Given the description of an element on the screen output the (x, y) to click on. 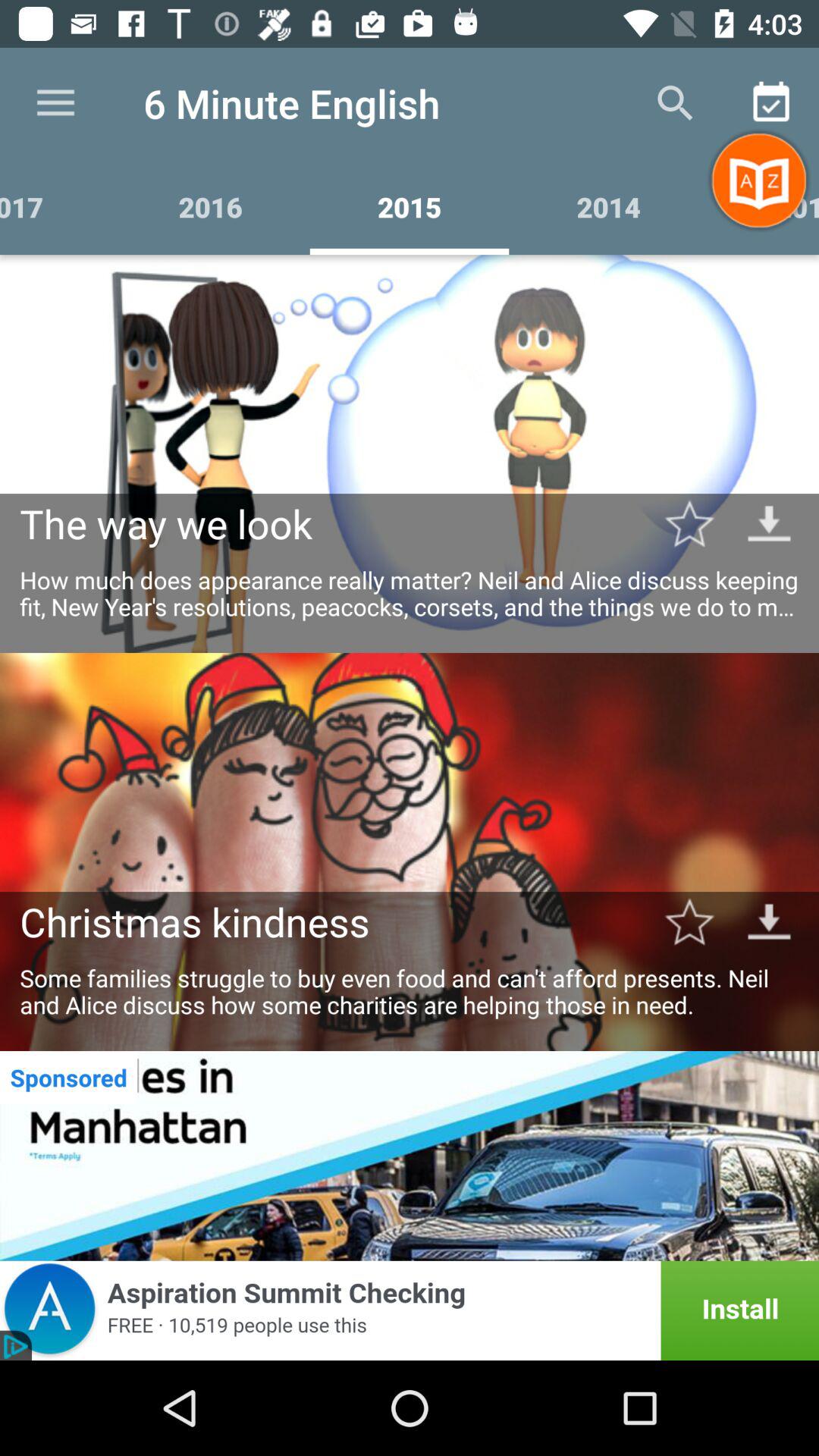
advertisement (409, 1155)
